Given the description of an element on the screen output the (x, y) to click on. 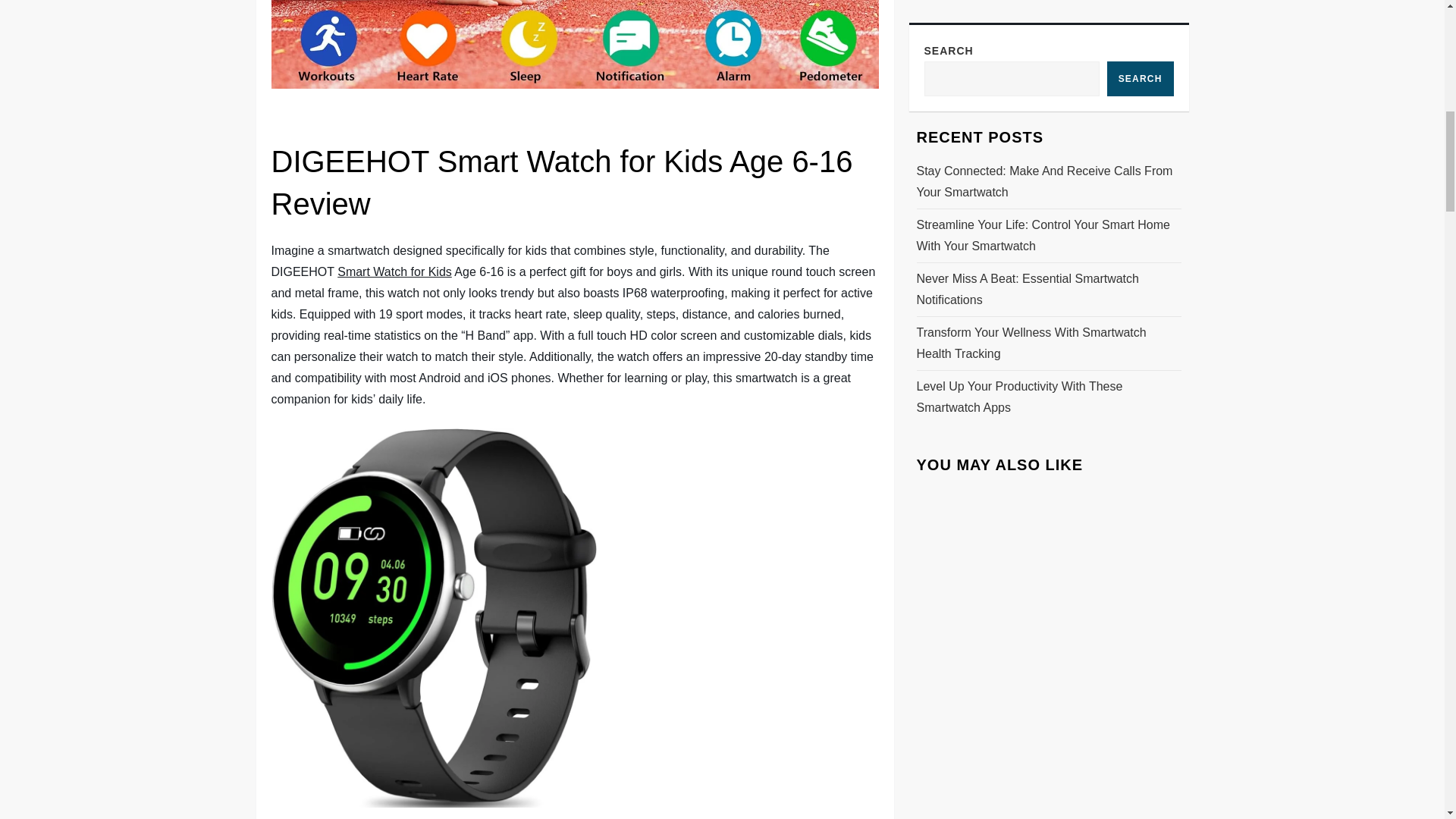
Smart Watch for Kids (394, 271)
